Given the description of an element on the screen output the (x, y) to click on. 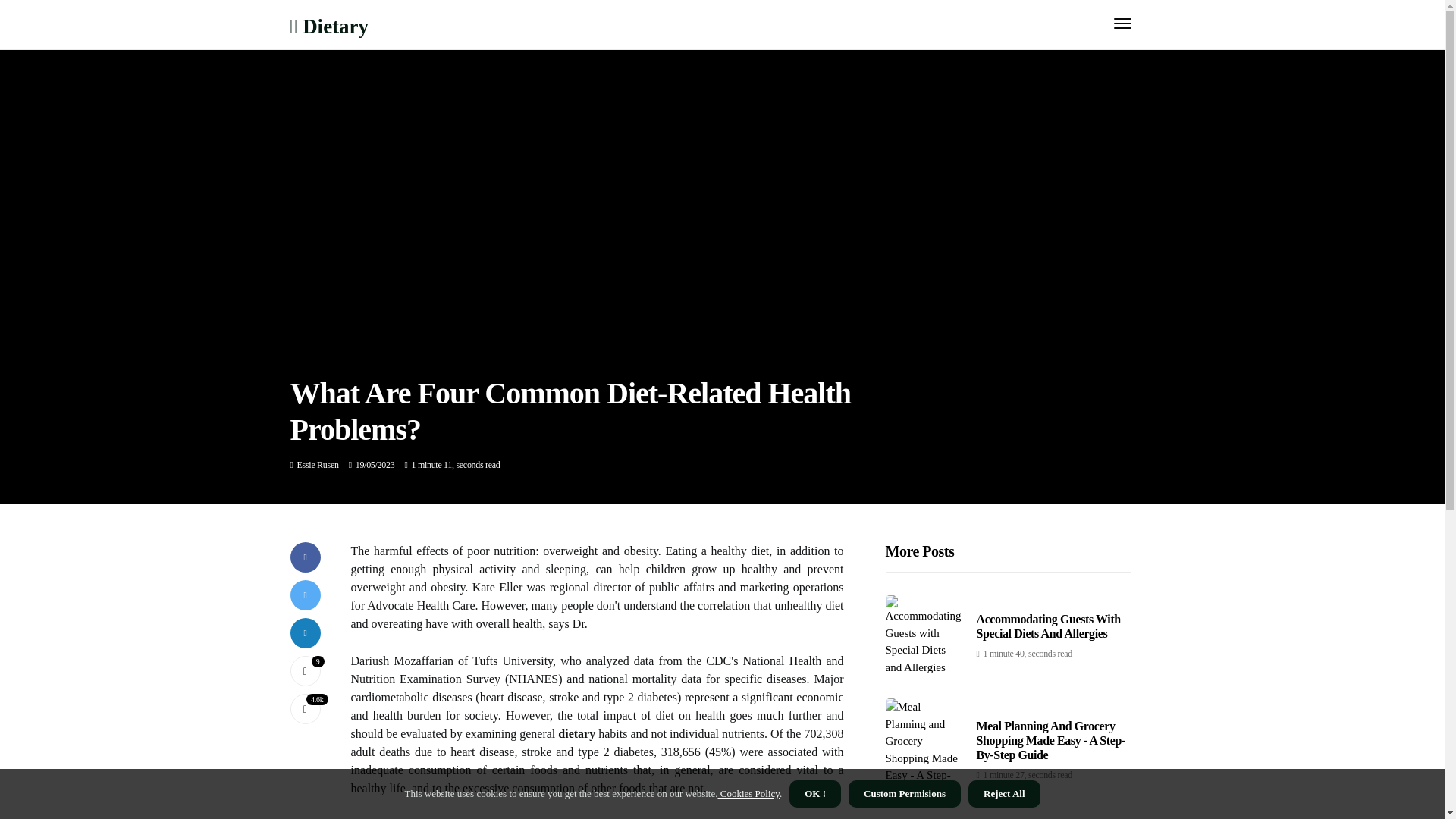
Posts by Essie Rusen (318, 464)
9 (304, 671)
Like (304, 671)
Accommodating Guests With Special Diets And Allergies (1048, 625)
Essie Rusen (318, 464)
Dietary (328, 26)
